Given the description of an element on the screen output the (x, y) to click on. 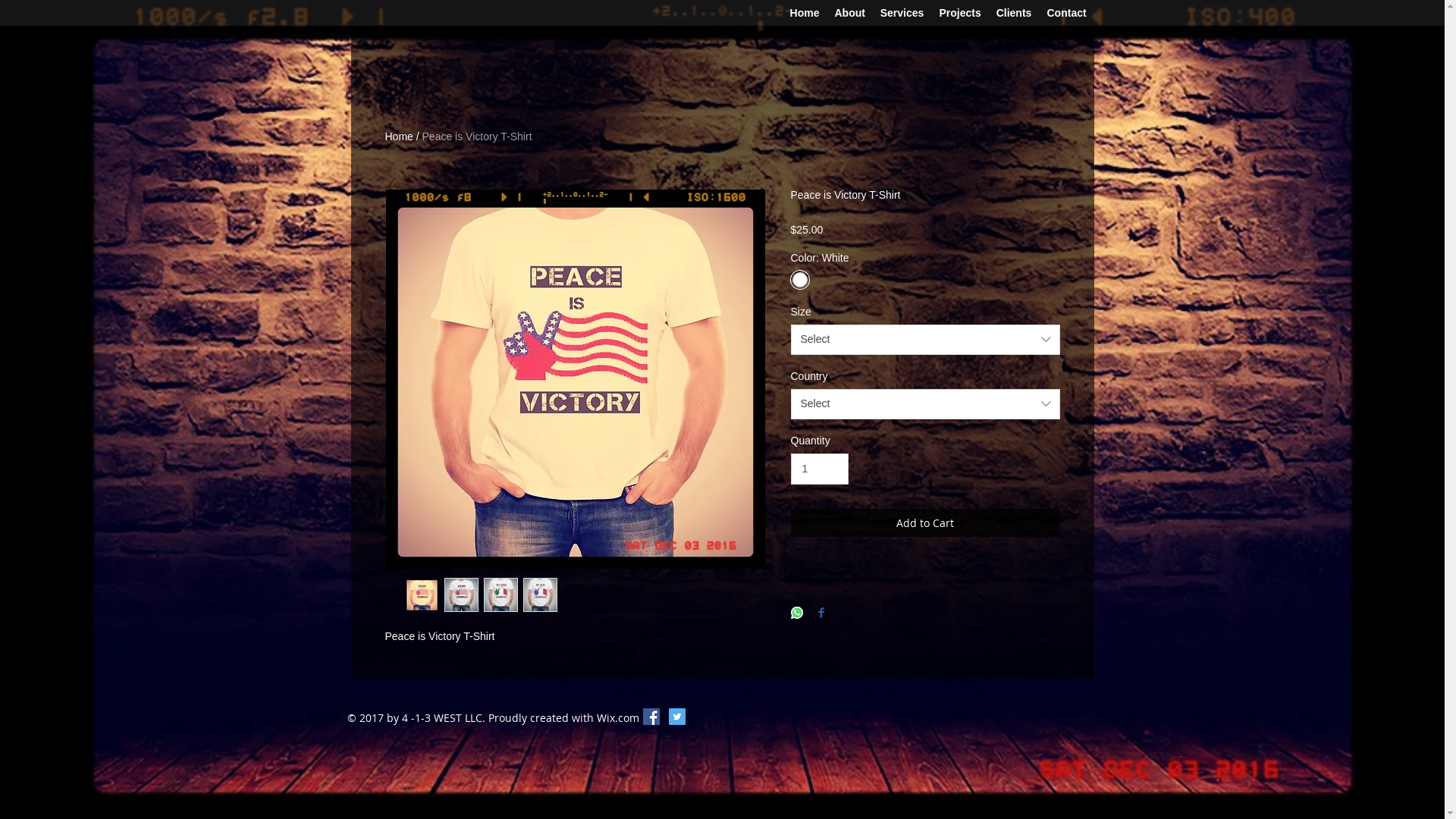
Home Element type: text (804, 12)
Contact Element type: text (1065, 12)
Add to Cart Element type: text (924, 522)
Select Element type: text (924, 339)
Clients Element type: text (1013, 12)
Projects Element type: text (959, 12)
Home Element type: text (399, 136)
Select Element type: text (924, 404)
About Element type: text (849, 12)
Wix.com Element type: text (617, 717)
Services Element type: text (901, 12)
